Given the description of an element on the screen output the (x, y) to click on. 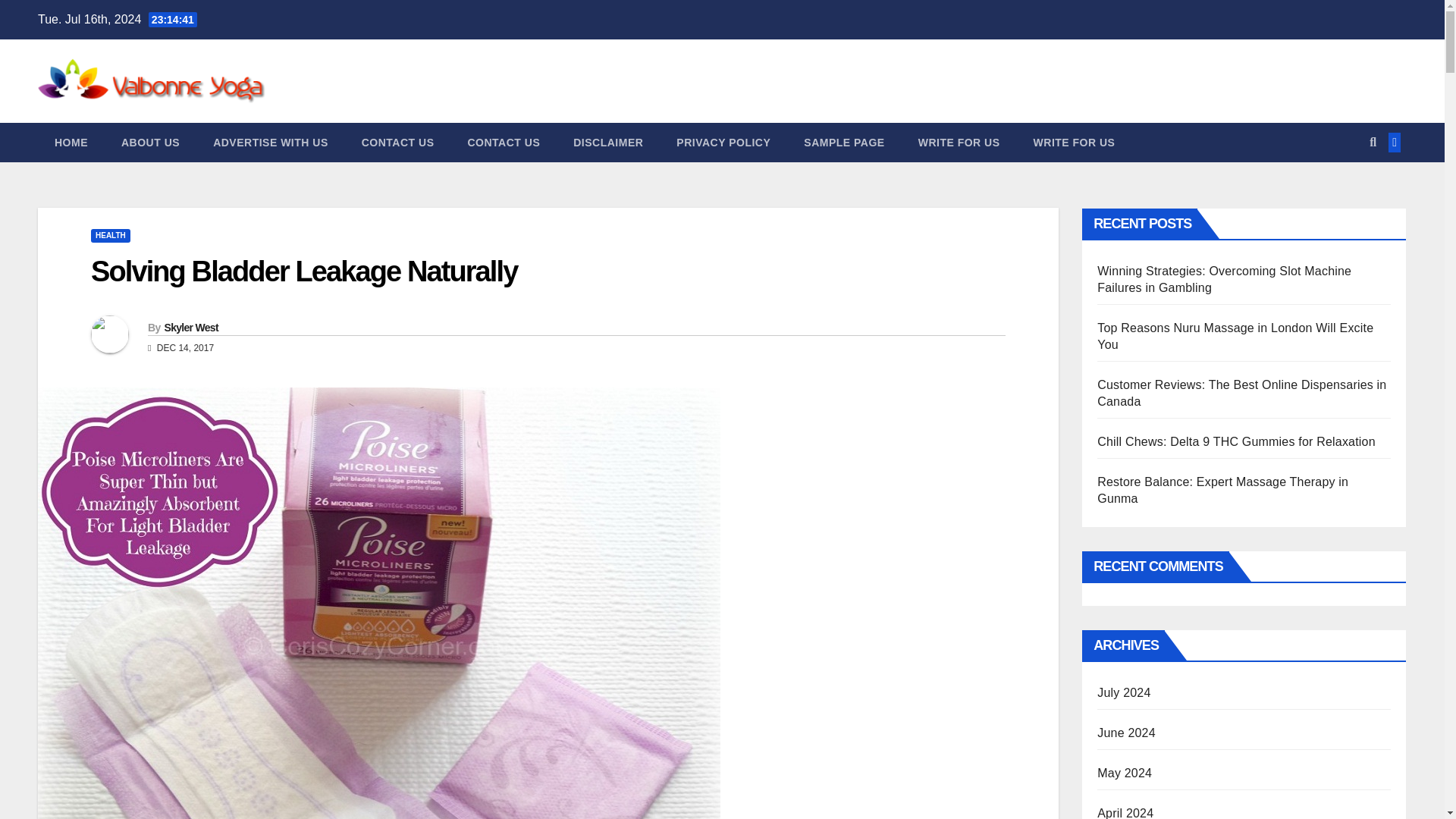
Permalink to: Solving Bladder Leakage Naturally (303, 271)
WRITE FOR US (1074, 142)
HEALTH (110, 235)
CONTACT US (398, 142)
PRIVACY POLICY (723, 142)
SAMPLE PAGE (844, 142)
Solving Bladder Leakage Naturally (303, 271)
Home (70, 142)
HOME (70, 142)
ADVERTISE WITH US (270, 142)
WRITE FOR US (958, 142)
DISCLAIMER (607, 142)
ABOUT US (150, 142)
Skyler West (189, 327)
CONTACT US (502, 142)
